Given the description of an element on the screen output the (x, y) to click on. 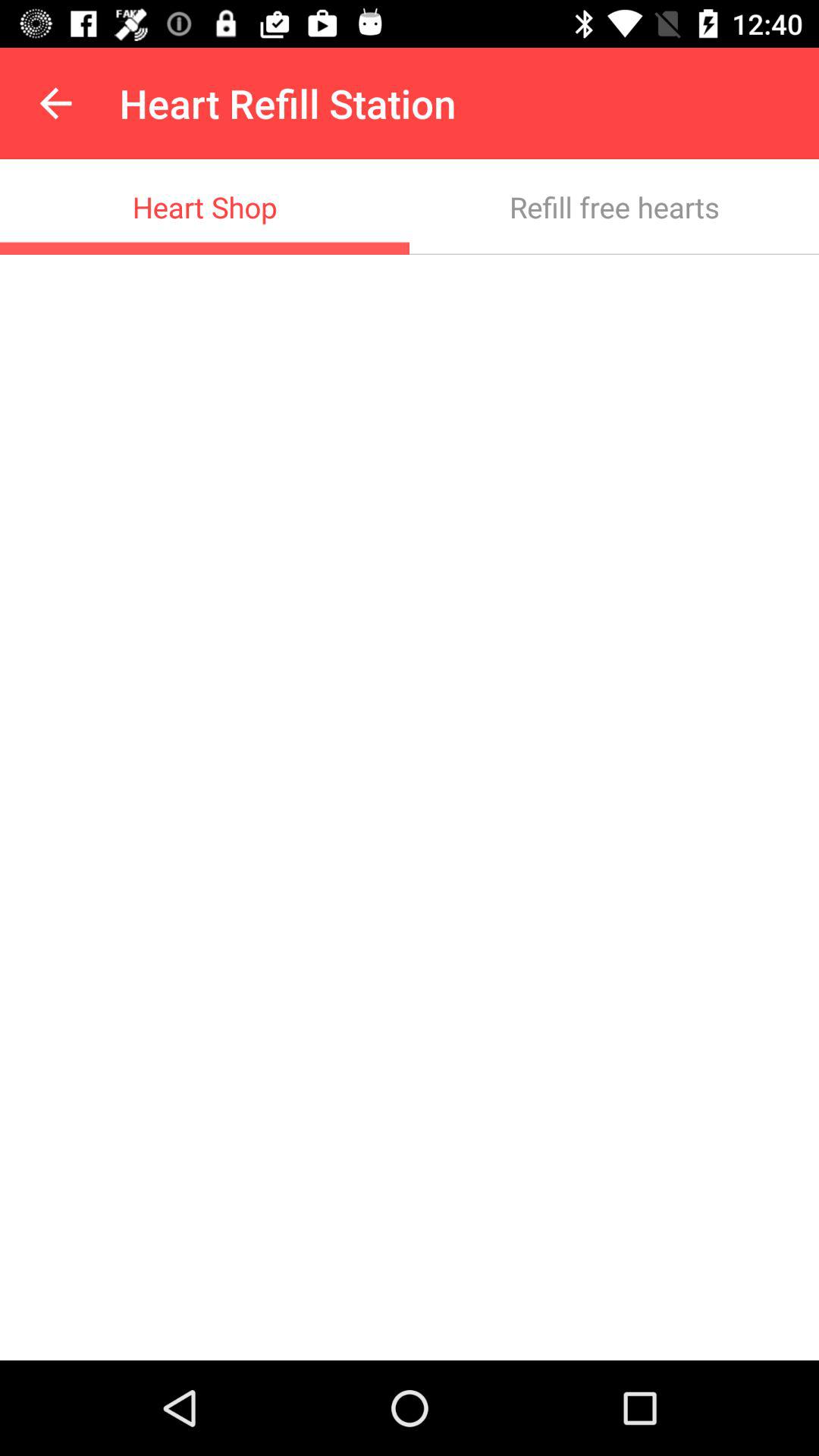
jump until the refill free hearts (614, 206)
